Given the description of an element on the screen output the (x, y) to click on. 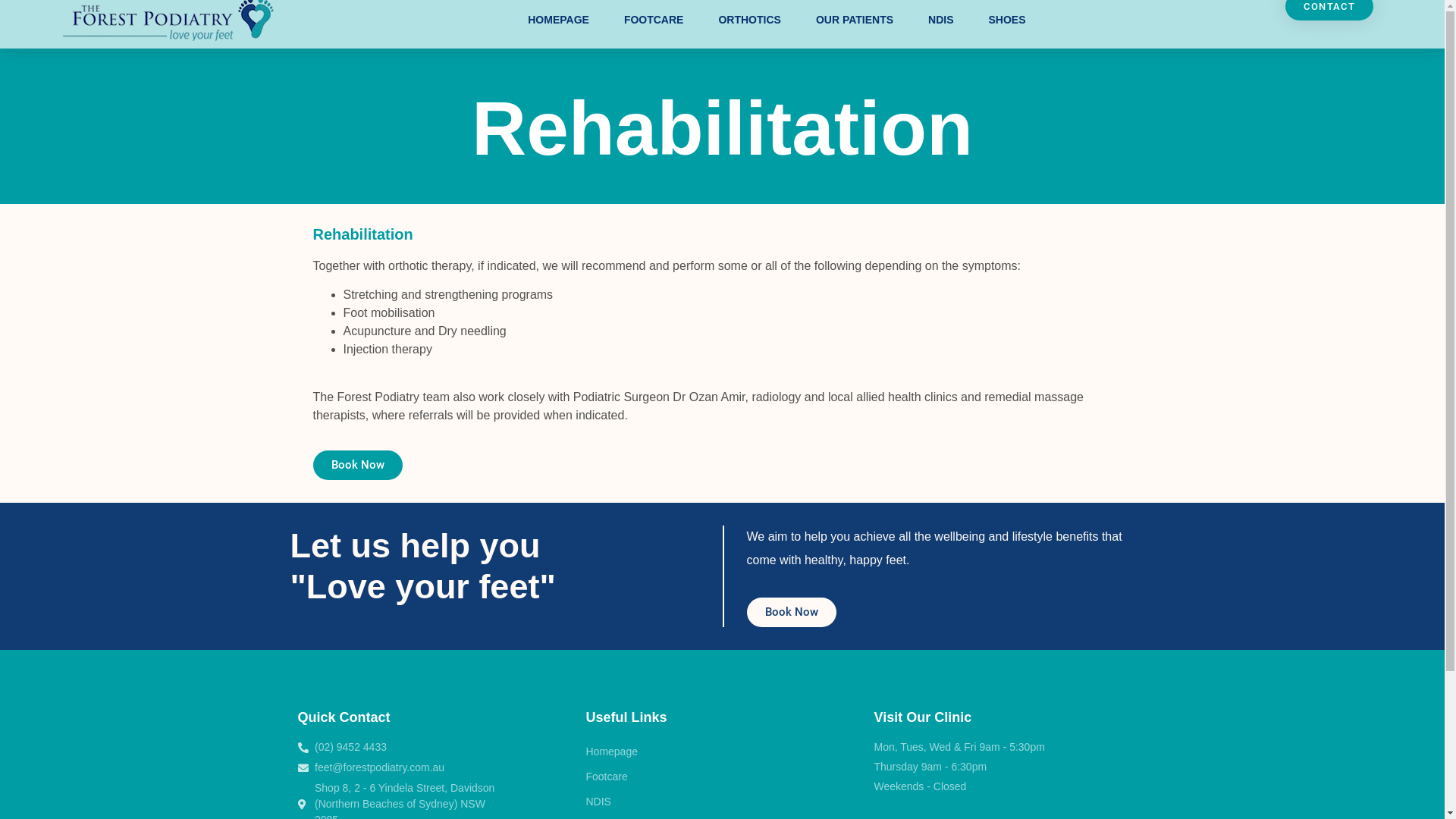
Book Now Element type: text (356, 465)
Homepage Element type: text (721, 751)
NDIS Element type: text (721, 801)
Book Now Element type: text (790, 612)
(02) 9452 4433 Element type: text (403, 747)
feet@forestpodiatry.com.au Element type: text (403, 767)
Footcare Element type: text (721, 776)
